Given the description of an element on the screen output the (x, y) to click on. 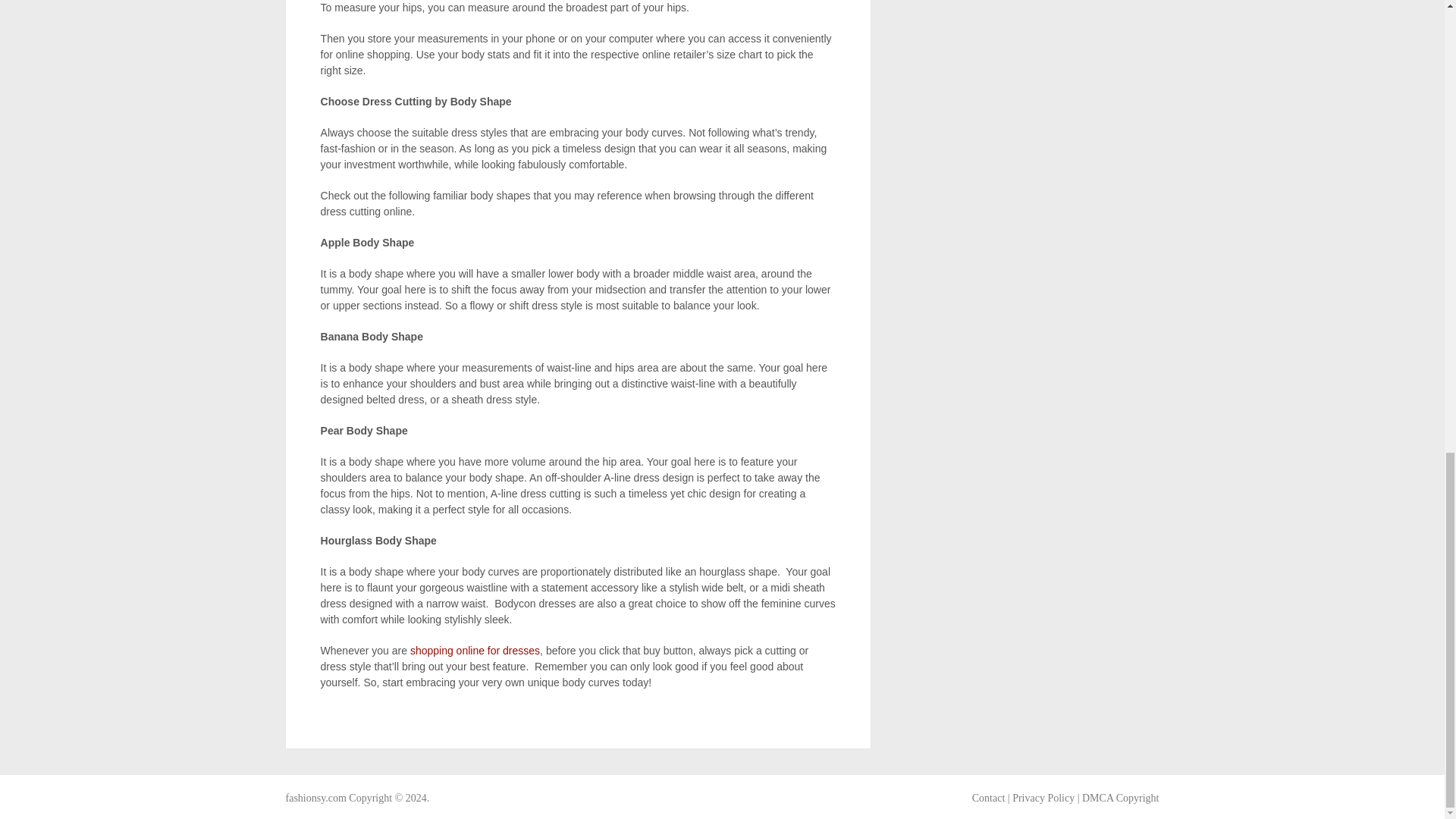
DMCA Copyright (1119, 797)
fashionsy.com (315, 797)
Contact (989, 797)
Be Unique, Be Different, Be Fashionable (315, 797)
Privacy Policy (1042, 797)
shopping online for dresses (473, 650)
